Given the description of an element on the screen output the (x, y) to click on. 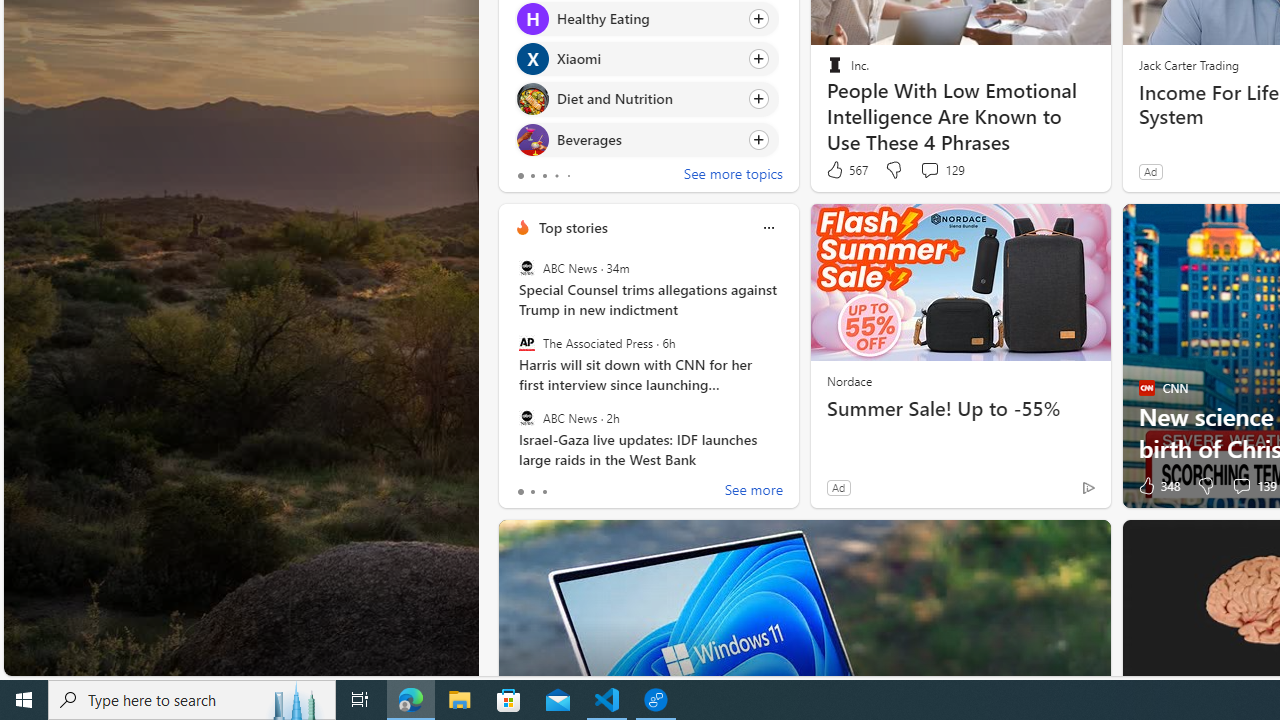
348 Like (1157, 485)
See more topics (733, 175)
View comments 129 Comment (941, 170)
Class: icon-img (768, 228)
tab-4 (567, 175)
View comments 129 Comment (929, 169)
The Associated Press (526, 343)
Click to follow topic Beverages (646, 138)
tab-2 (543, 491)
ABC News (526, 417)
View comments 139 Comment (1241, 485)
